Given the description of an element on the screen output the (x, y) to click on. 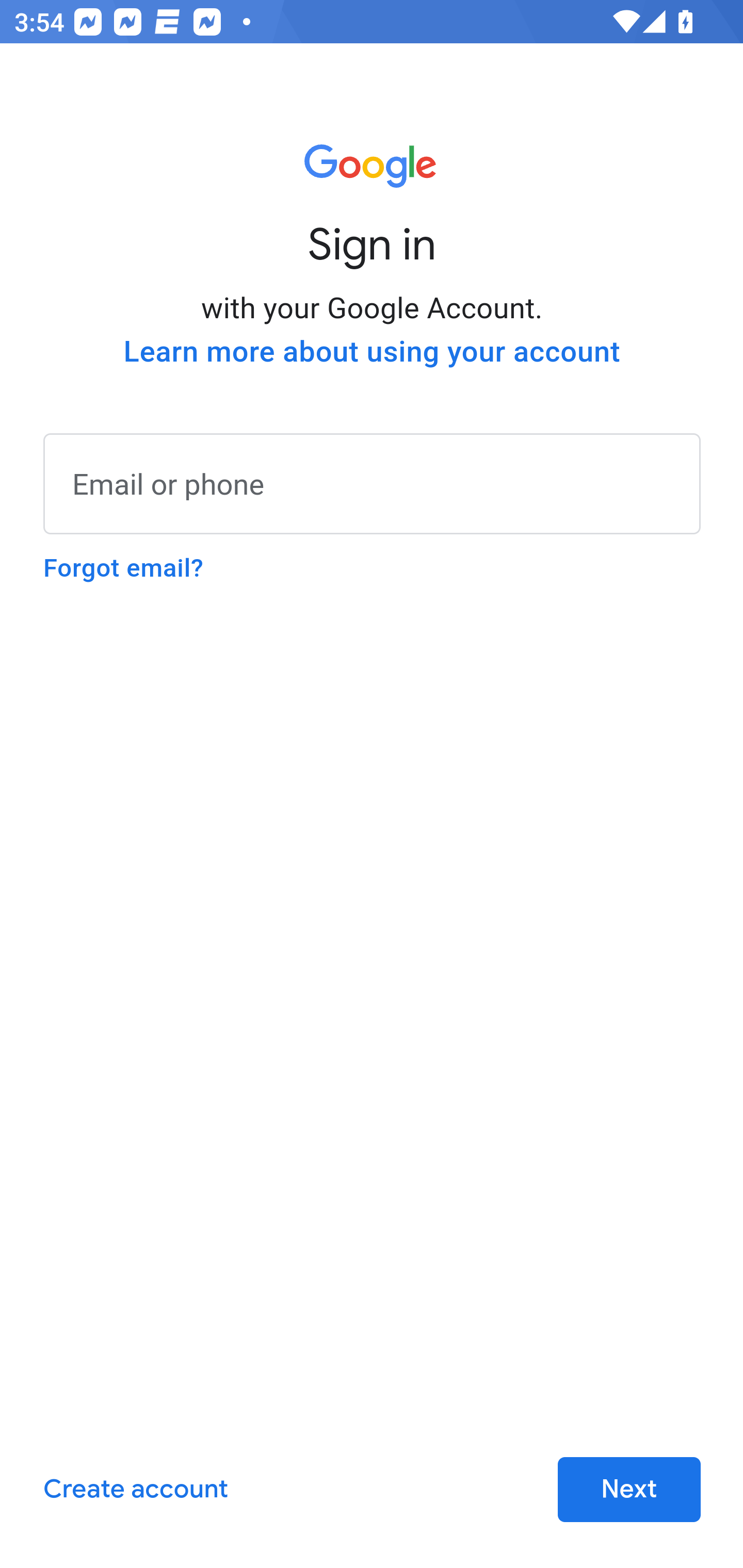
Learn more about using your account (371, 351)
Forgot email? (123, 568)
Create account (134, 1490)
Next (629, 1490)
